Given the description of an element on the screen output the (x, y) to click on. 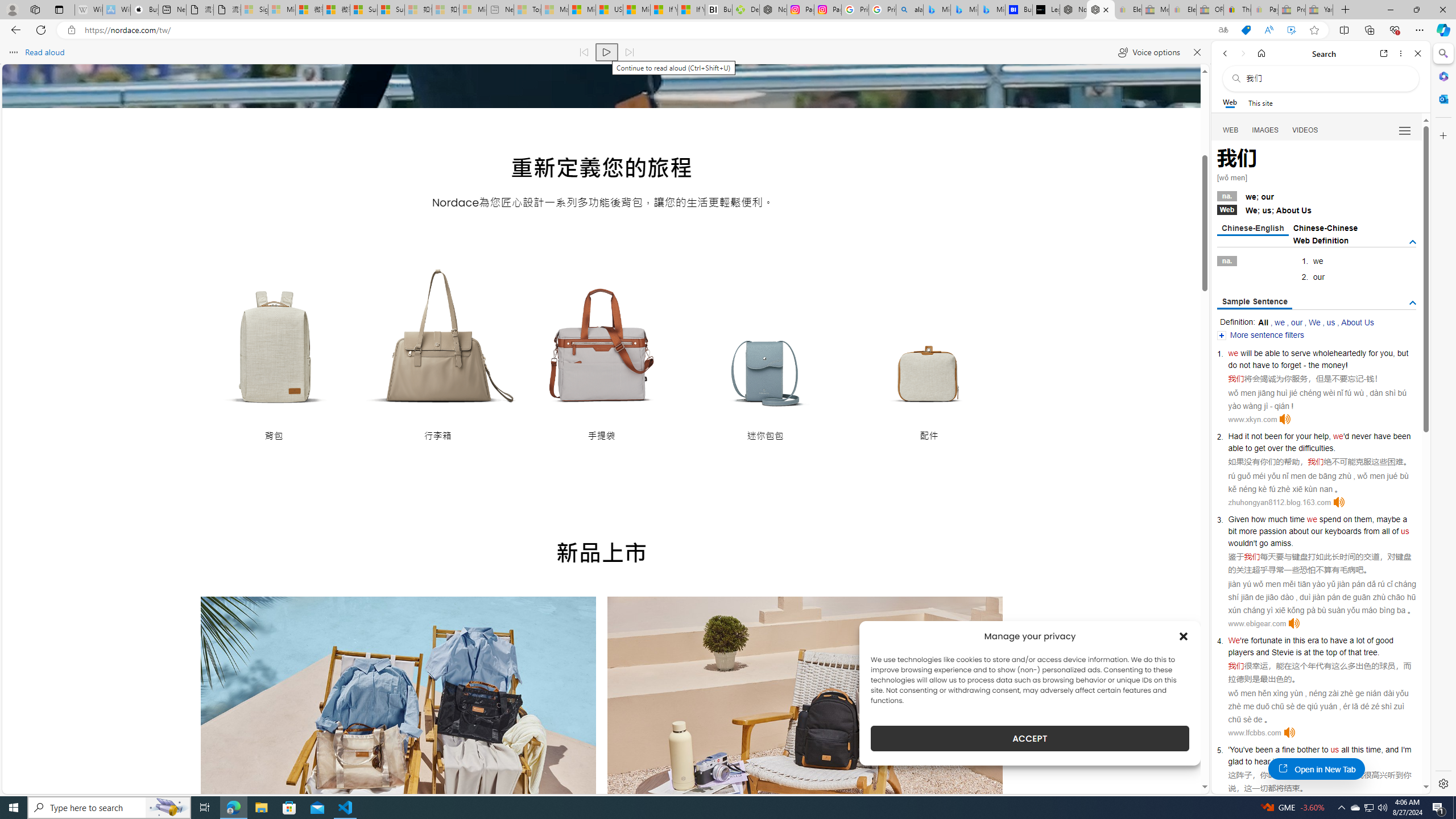
all (1344, 749)
good (1384, 640)
forget (1291, 364)
will (1246, 352)
players (1240, 651)
www.lfcbbs.com (1254, 732)
! (1346, 364)
